Given the description of an element on the screen output the (x, y) to click on. 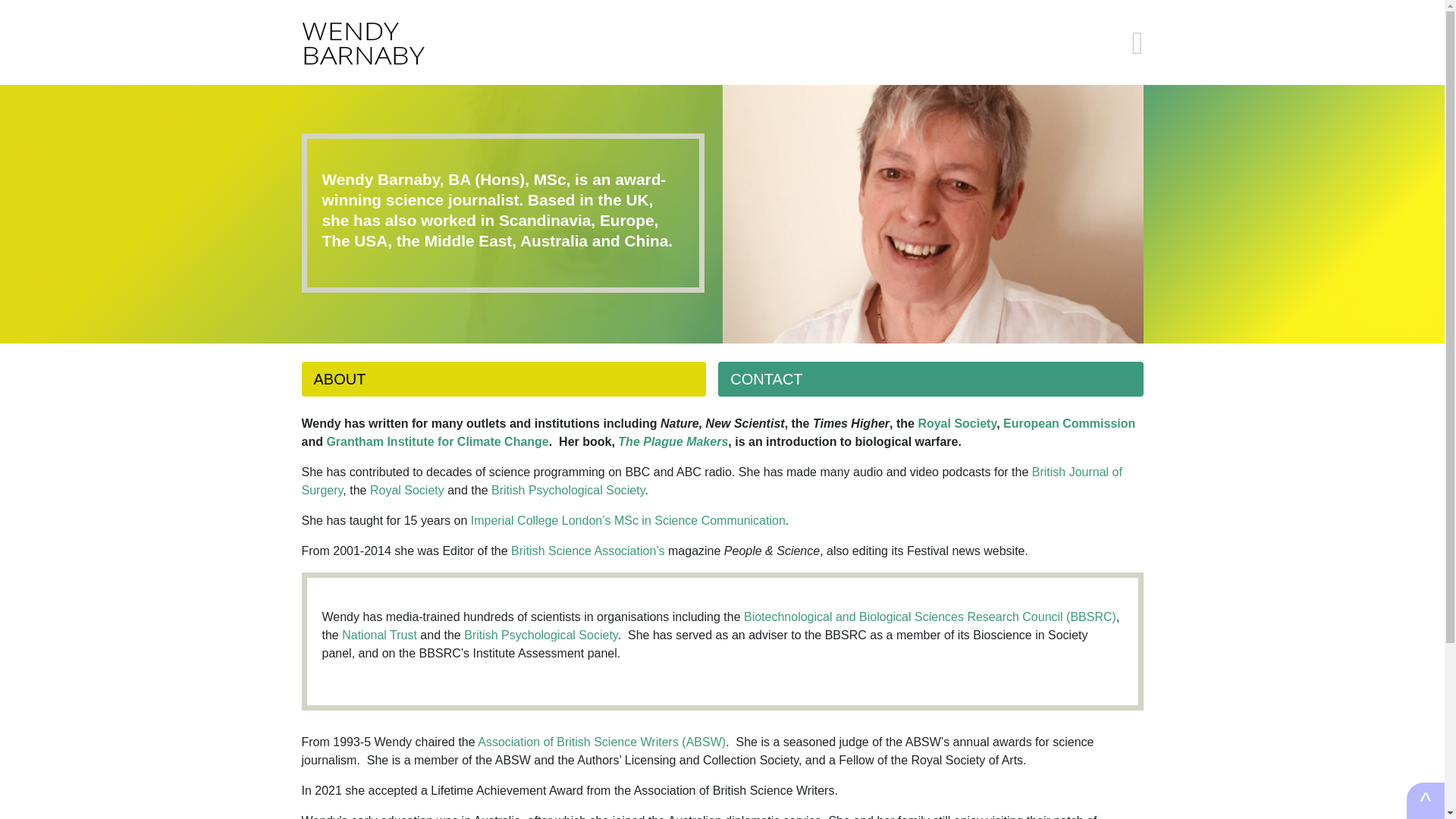
Grantham Institute for Climate Change (437, 440)
Royal Society (956, 422)
European Commission (1069, 422)
National Trust (379, 634)
British Psychological Society (540, 634)
CONTACT (929, 378)
Royal Society (406, 490)
ABOUT (503, 378)
The Plague Makers (672, 440)
British Journal of Surgery (711, 481)
British Psychological Society (568, 490)
